Given the description of an element on the screen output the (x, y) to click on. 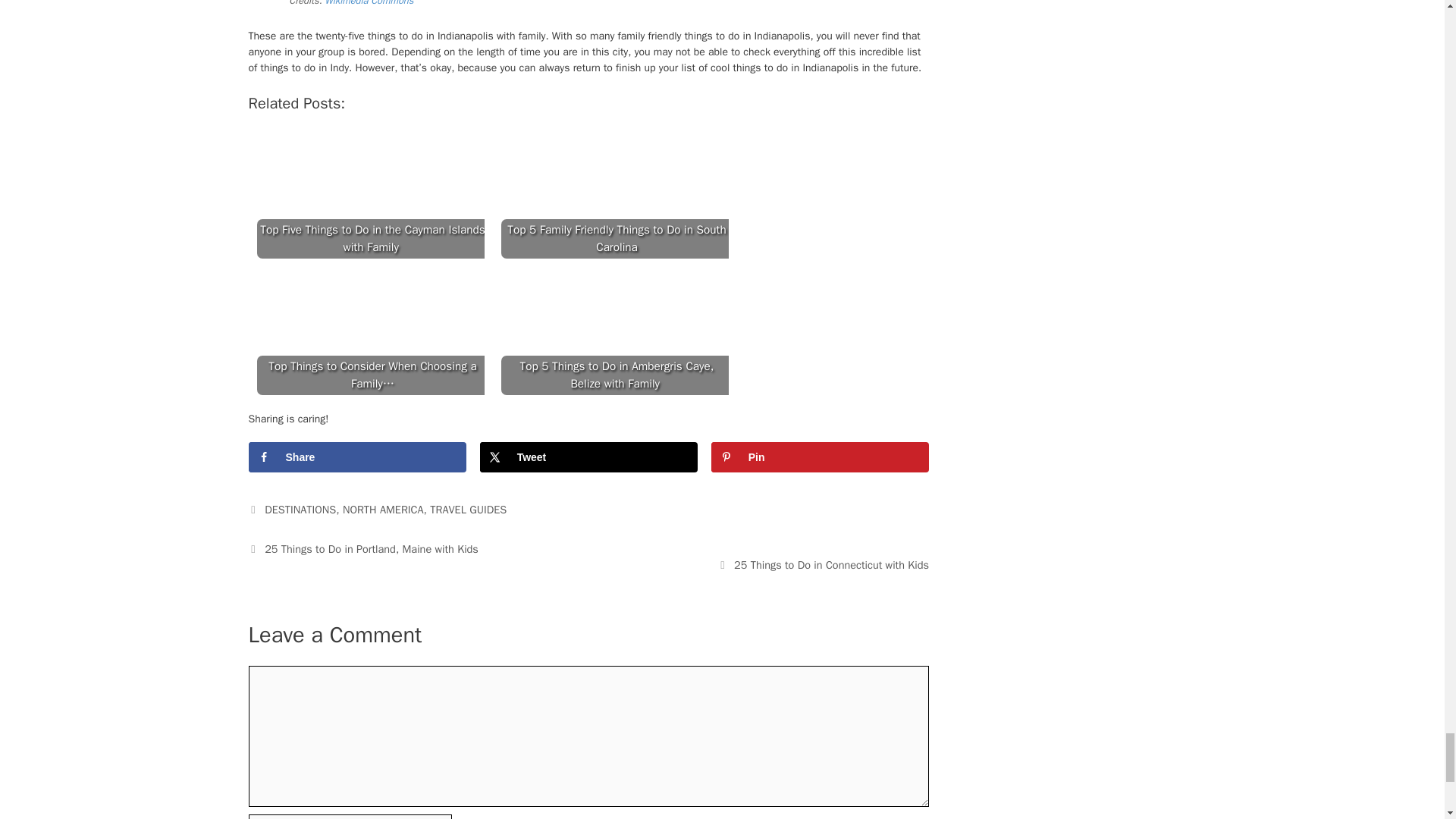
Save to Pinterest (819, 457)
Share on Facebook (356, 457)
Share on X (588, 457)
Top 5 Family Friendly Things to Do in South Carolina (614, 196)
